Given the description of an element on the screen output the (x, y) to click on. 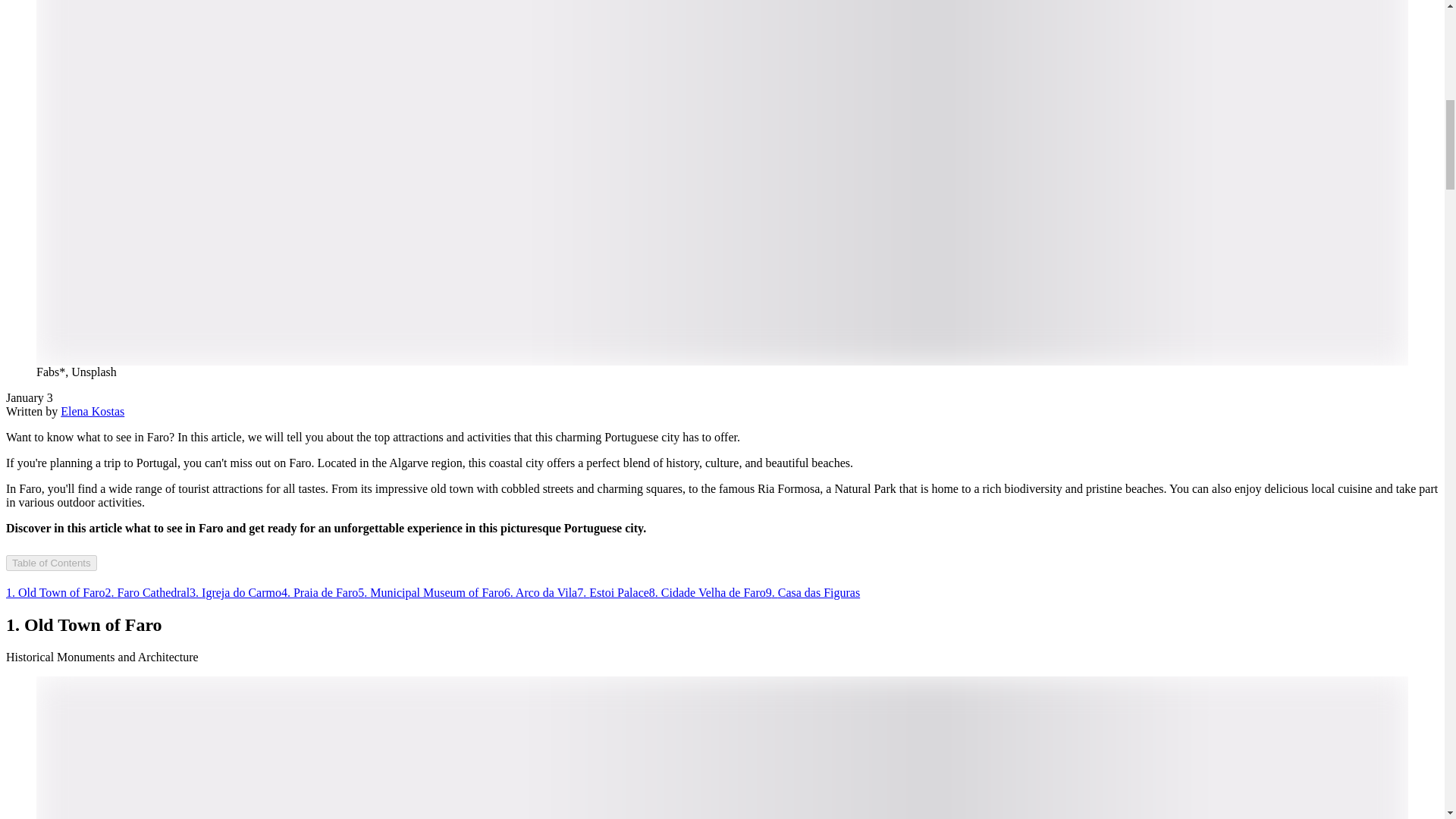
9. Casa das Figuras (812, 592)
7. Estoi Palace (612, 592)
5. Municipal Museum of Faro (430, 592)
3. Igreja do Carmo (235, 592)
2. Faro Cathedral (147, 592)
Table of Contents (51, 562)
4. Praia de Faro (319, 592)
9. Casa das Figuras (812, 592)
1. Old Town of Faro (54, 592)
2. Faro Cathedral (147, 592)
5. Municipal Museum of Faro (430, 592)
8. Cidade Velha de Faro (707, 592)
6. Arco da Vila (540, 592)
6. Arco da Vila (540, 592)
4. Praia de Faro (319, 592)
